Given the description of an element on the screen output the (x, y) to click on. 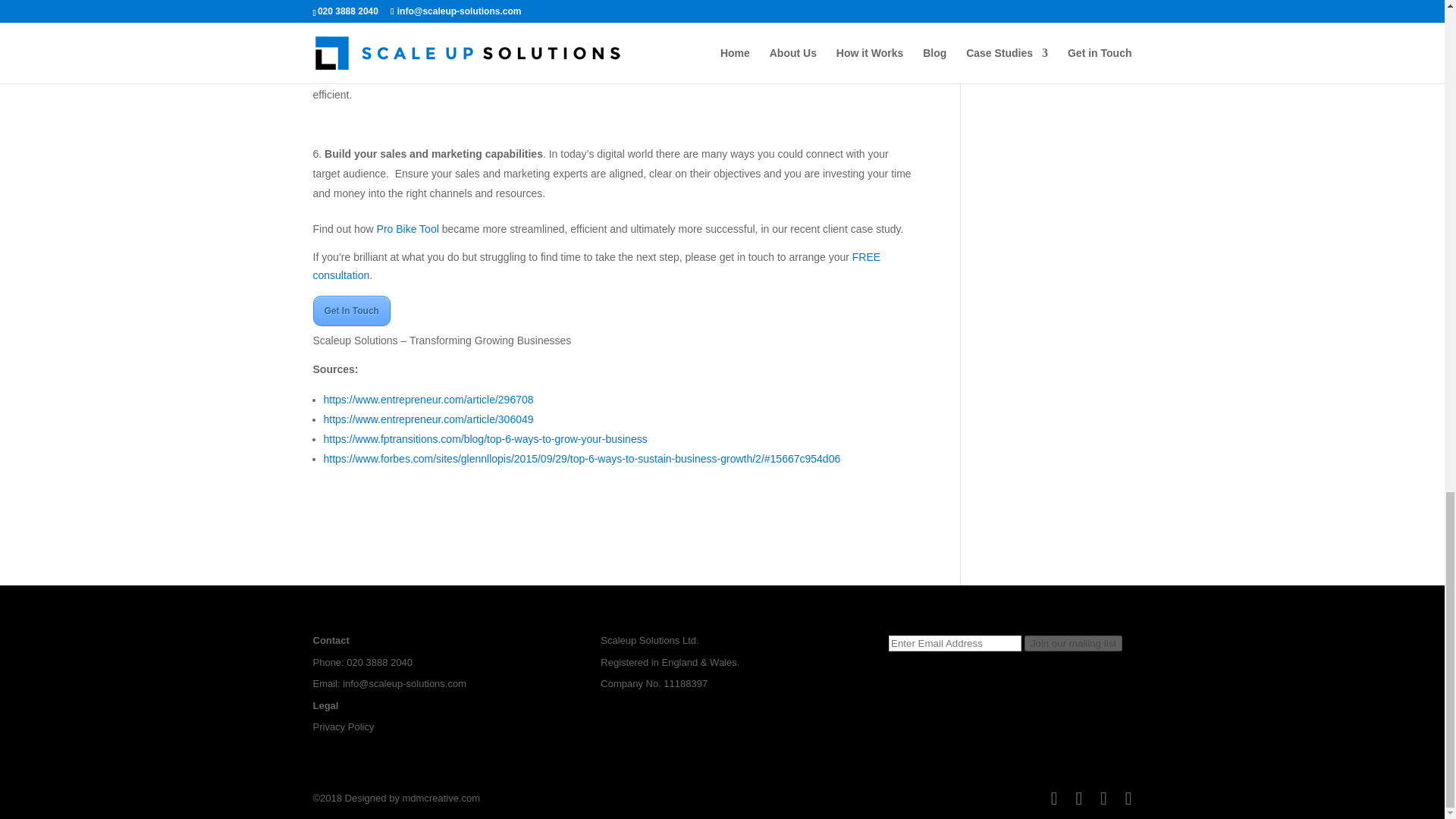
FREE consultation (596, 265)
Privacy Policy (343, 726)
Pro Bike Tool (408, 228)
Join our mailing list (1073, 643)
Get In Touch (351, 310)
